Given the description of an element on the screen output the (x, y) to click on. 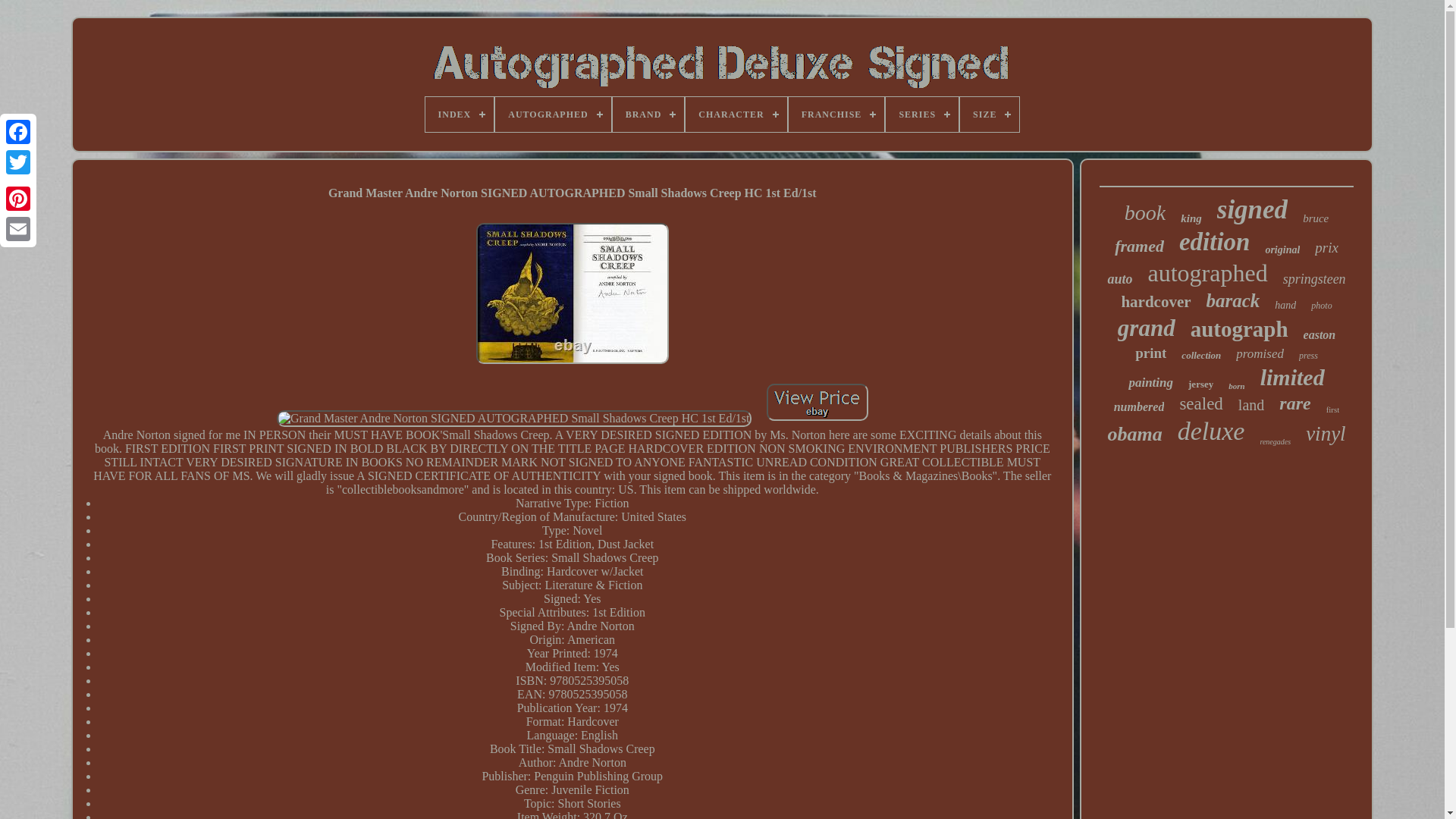
INDEX (460, 114)
CHARACTER (735, 114)
BRAND (648, 114)
AUTOGRAPHED (552, 114)
